Given the description of an element on the screen output the (x, y) to click on. 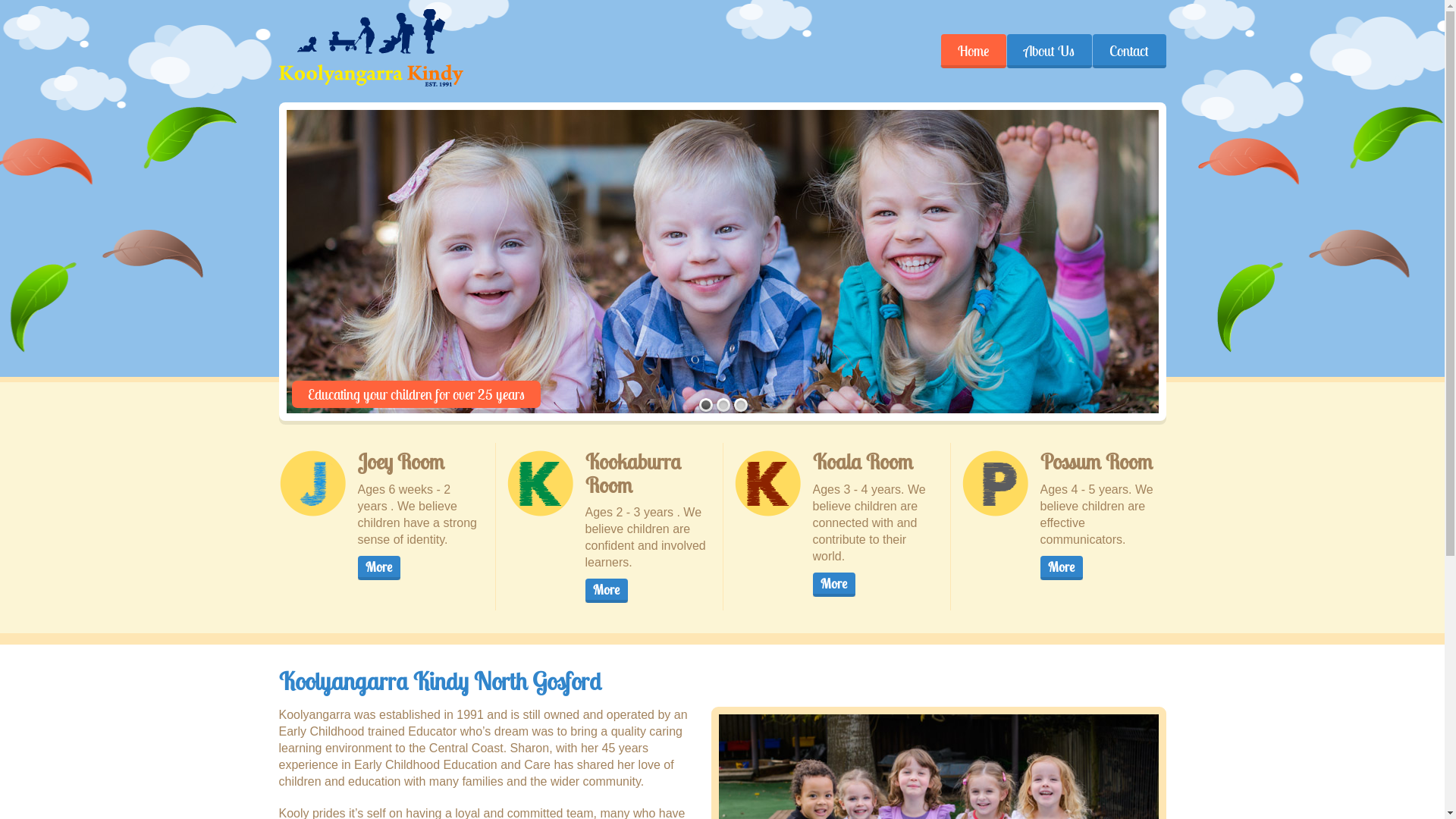
Home Element type: text (973, 51)
Contact Element type: text (1129, 51)
More Element type: text (834, 584)
More Element type: text (606, 590)
More Element type: text (379, 567)
koolyangarrakindy Element type: hover (371, 47)
About Us Element type: text (1048, 51)
More Element type: text (1061, 567)
